Given the description of an element on the screen output the (x, y) to click on. 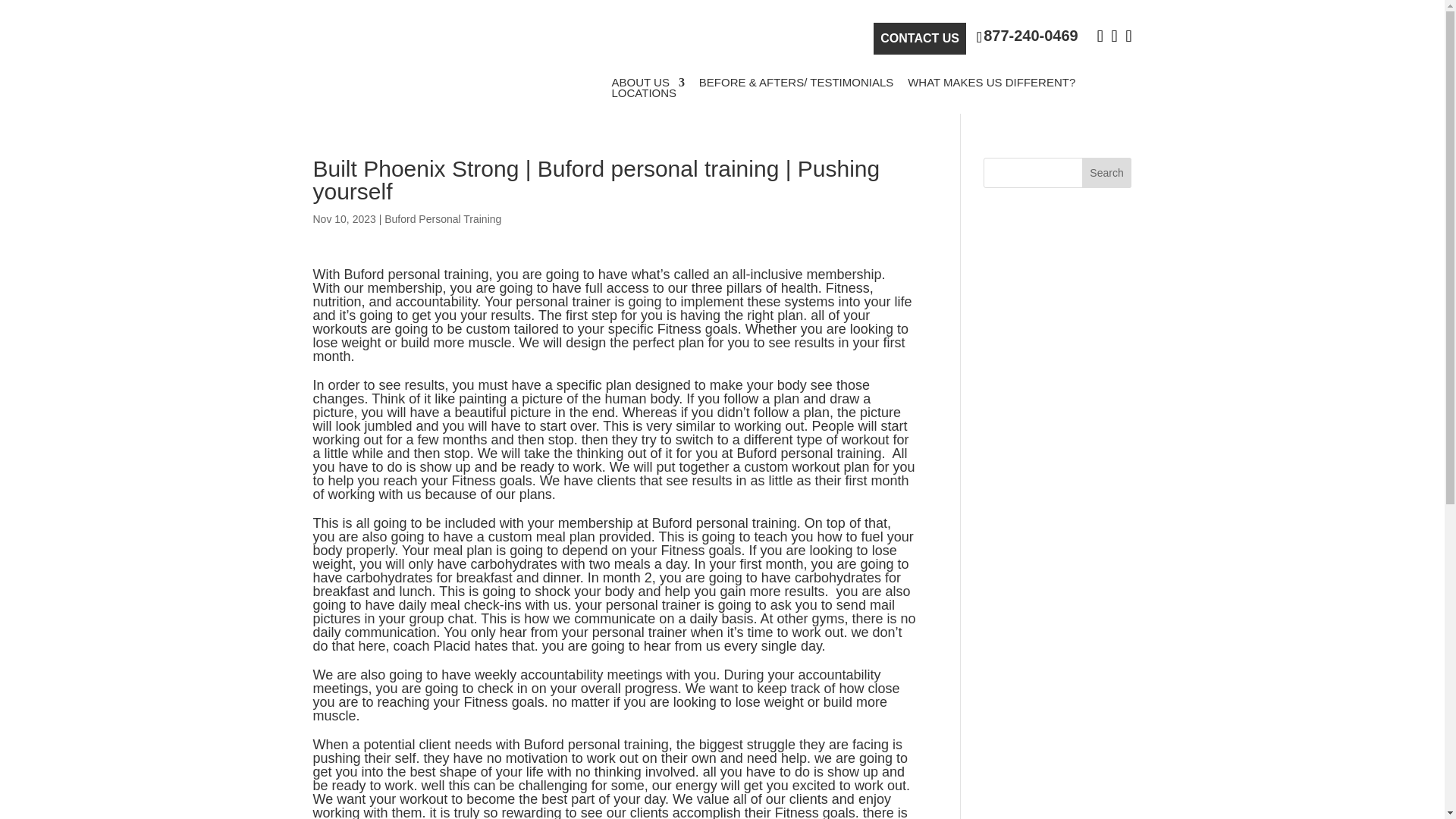
Search (1106, 173)
Search (1106, 173)
CONTACT US (919, 38)
WHAT MAKES US DIFFERENT? (991, 81)
LOCATIONS (644, 92)
877-240-0469 (1027, 36)
ABOUT US (647, 81)
Buford Personal Training (442, 218)
